Given the description of an element on the screen output the (x, y) to click on. 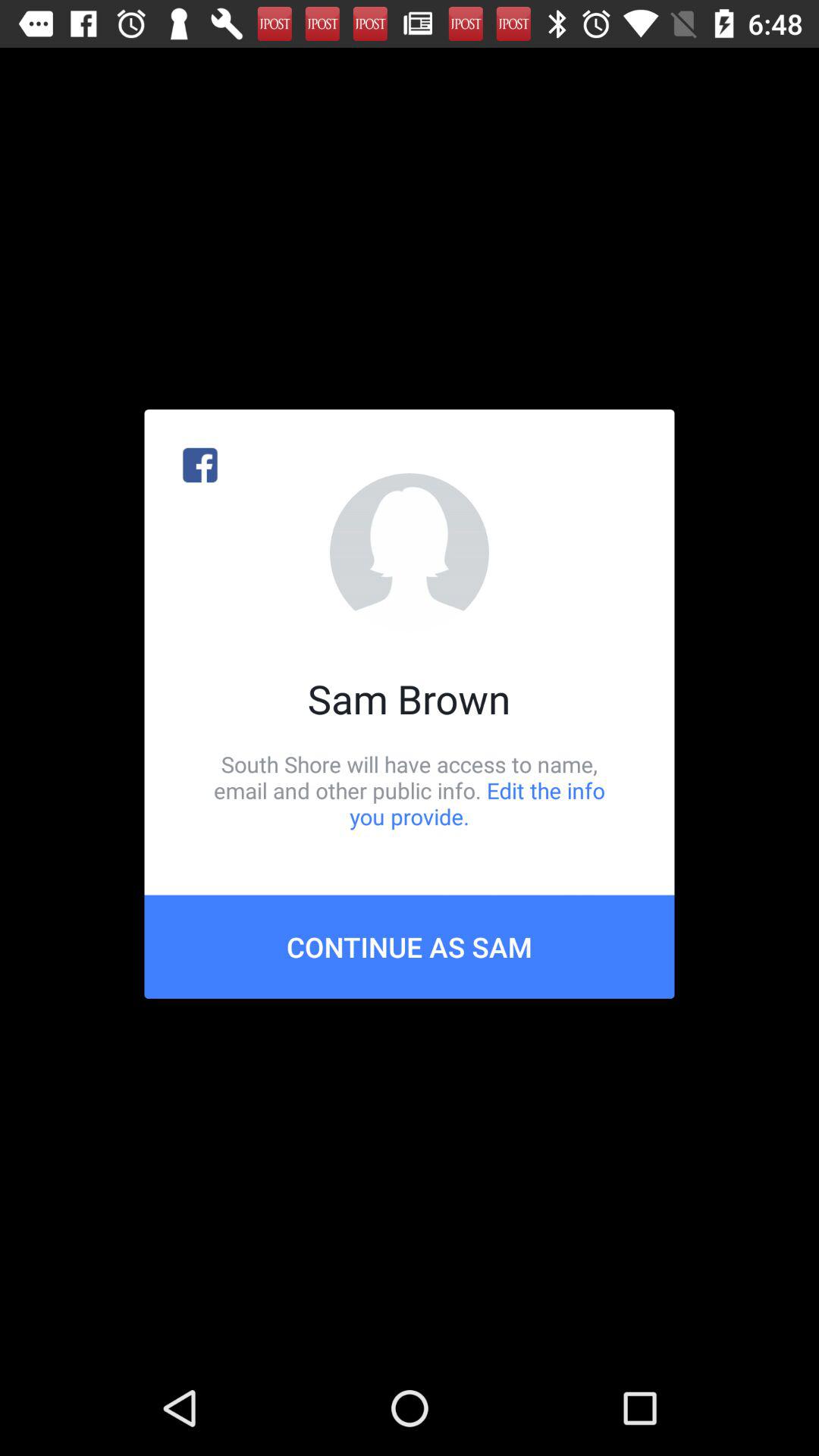
launch the south shore will (409, 790)
